Given the description of an element on the screen output the (x, y) to click on. 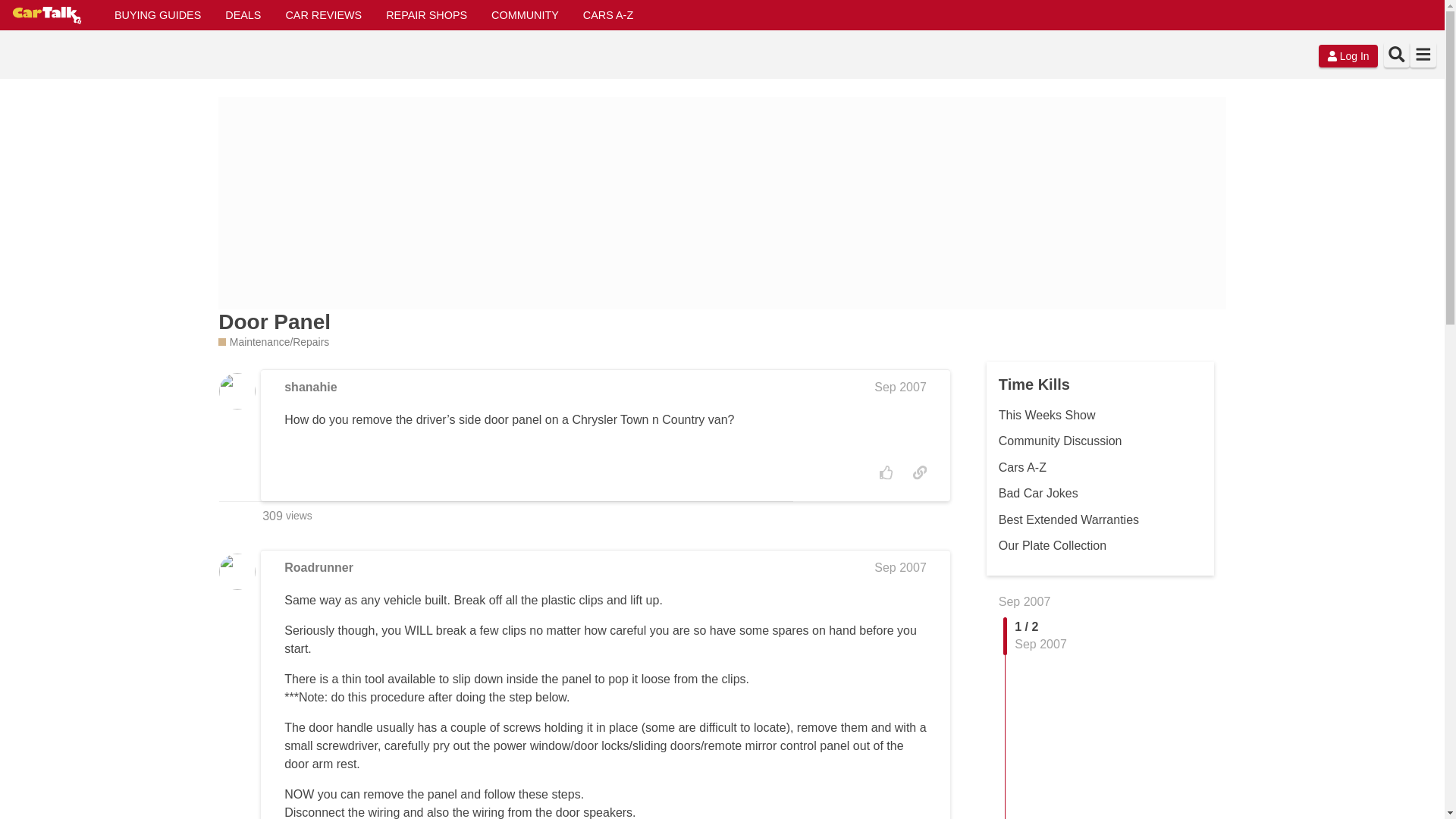
Sep 2007 (900, 386)
Door Panel (274, 321)
Post date (900, 567)
This Weeks Show (1047, 414)
like this post (886, 472)
Log In (1348, 56)
Our Plate Collection (1052, 545)
menu (1422, 54)
DEALS (242, 15)
Search (1396, 54)
